Given the description of an element on the screen output the (x, y) to click on. 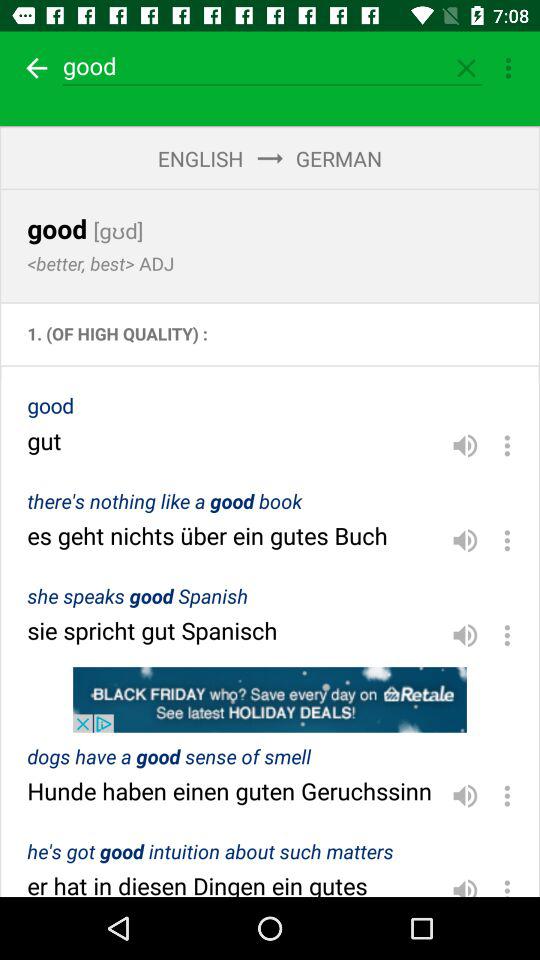
advertisement (269, 699)
